Given the description of an element on the screen output the (x, y) to click on. 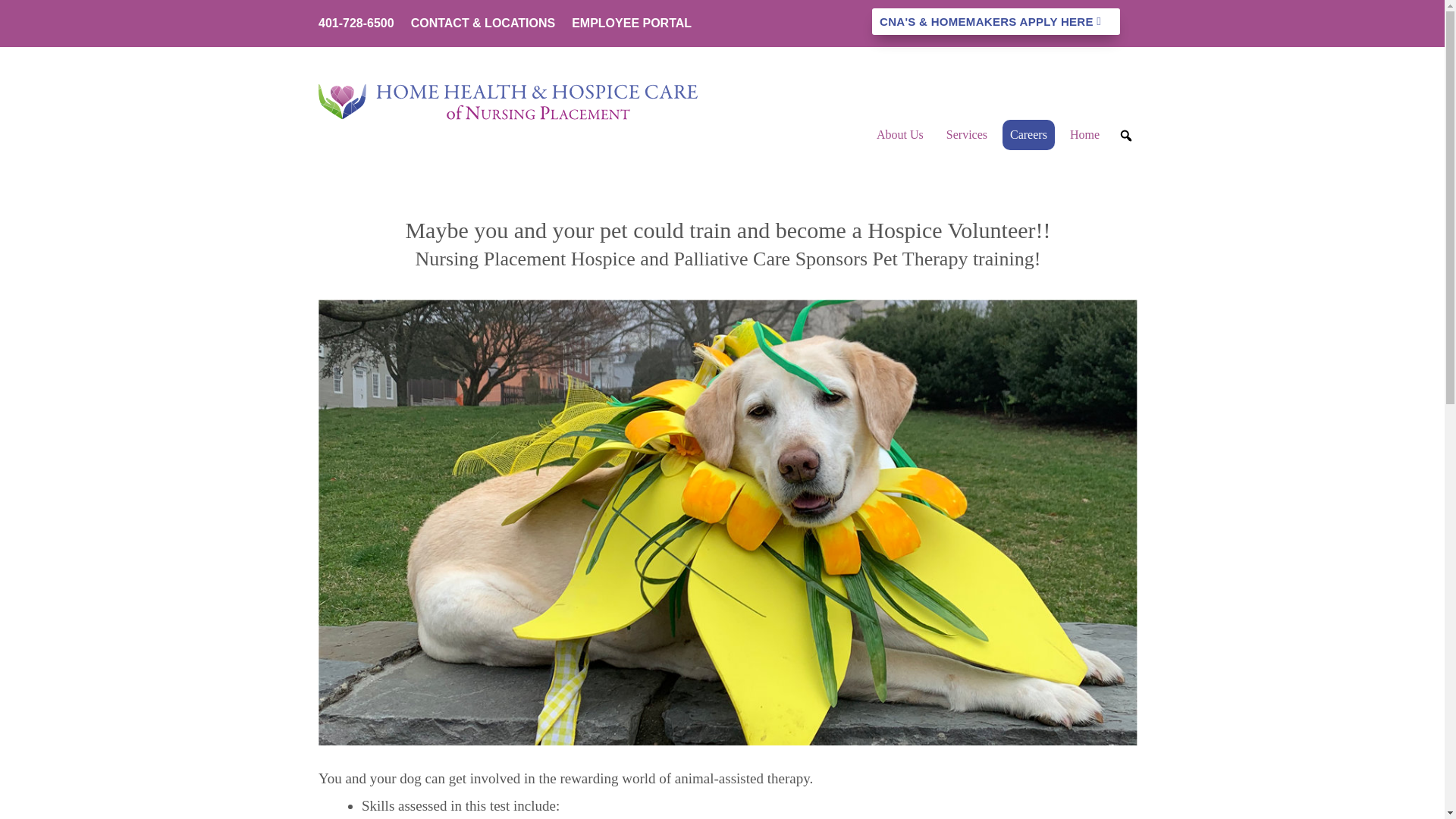
EMPLOYEE PORTAL (631, 25)
HHHC Horizontal Logo (507, 101)
About Us (900, 134)
401-728-6500 (356, 25)
Home (1084, 134)
Careers (1028, 134)
Services (966, 134)
Search (11, 8)
